Given the description of an element on the screen output the (x, y) to click on. 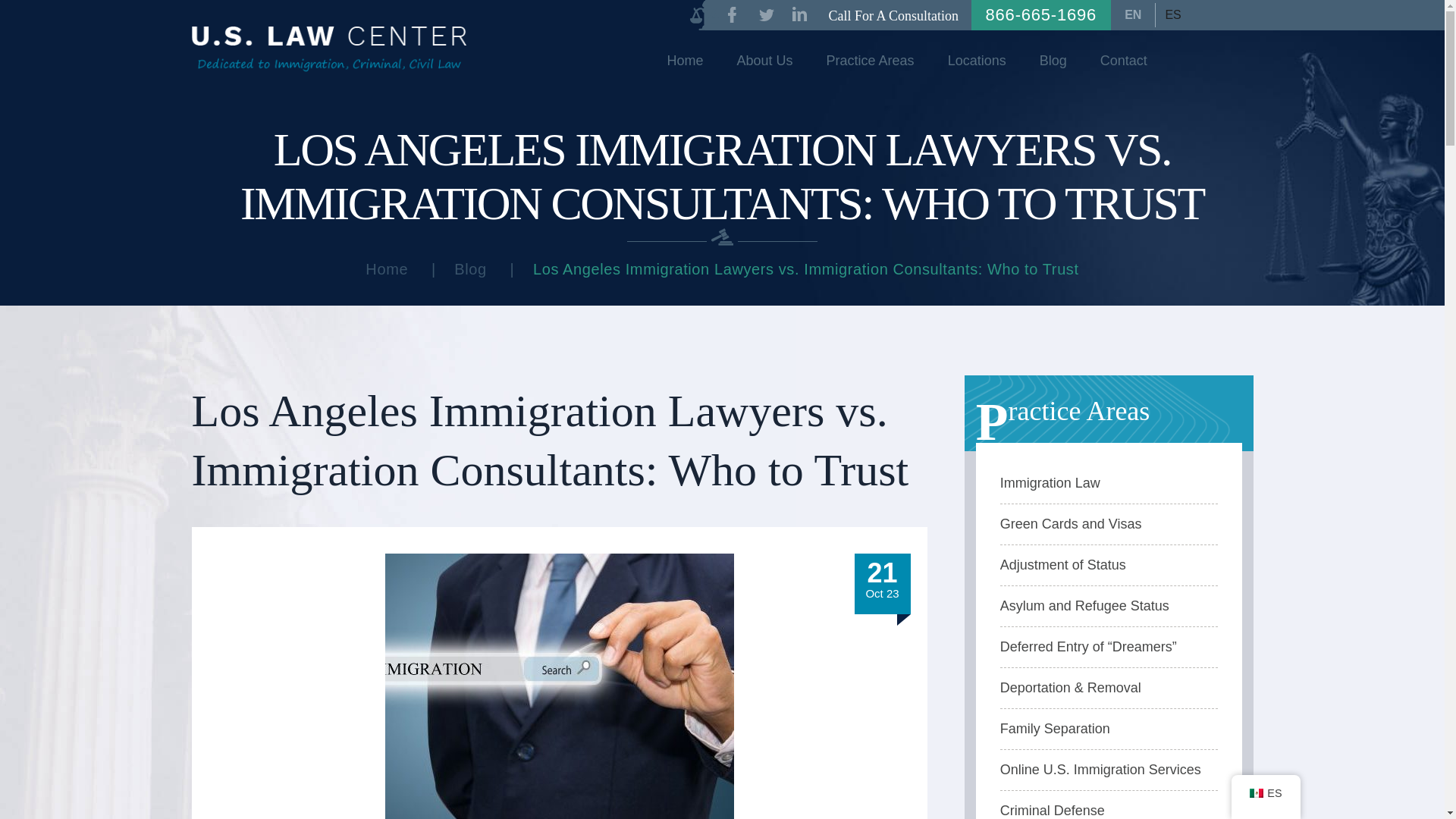
866-665-1696 (1041, 15)
Follow on LinkedIn (799, 14)
Facebook (731, 14)
Follow on Facebook (731, 14)
Practice Areas (870, 60)
Spanish (1172, 15)
LinkedIn (799, 14)
Locations (977, 60)
Follow on Twitter (766, 14)
About Us (764, 60)
